Given the description of an element on the screen output the (x, y) to click on. 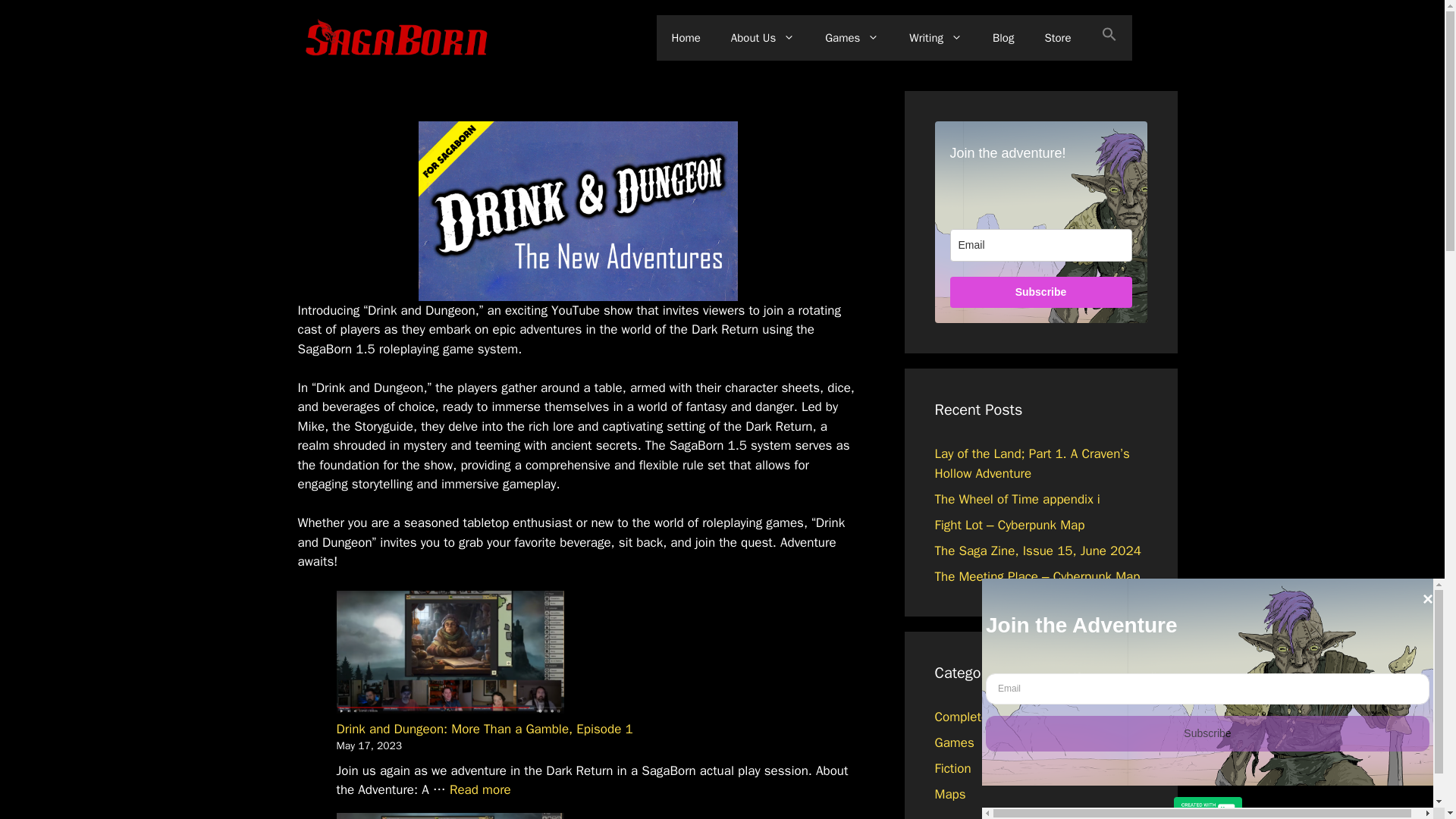
Blog (1002, 37)
Writing (934, 37)
Drink and Dungeon: More Than a Gamble, Episode 1 (480, 789)
Store (1057, 37)
Games (851, 37)
About Us (762, 37)
Home (686, 37)
Drink and Dungeon: More Than a Gamble, Episode 1 (484, 729)
Read more (480, 789)
